Given the description of an element on the screen output the (x, y) to click on. 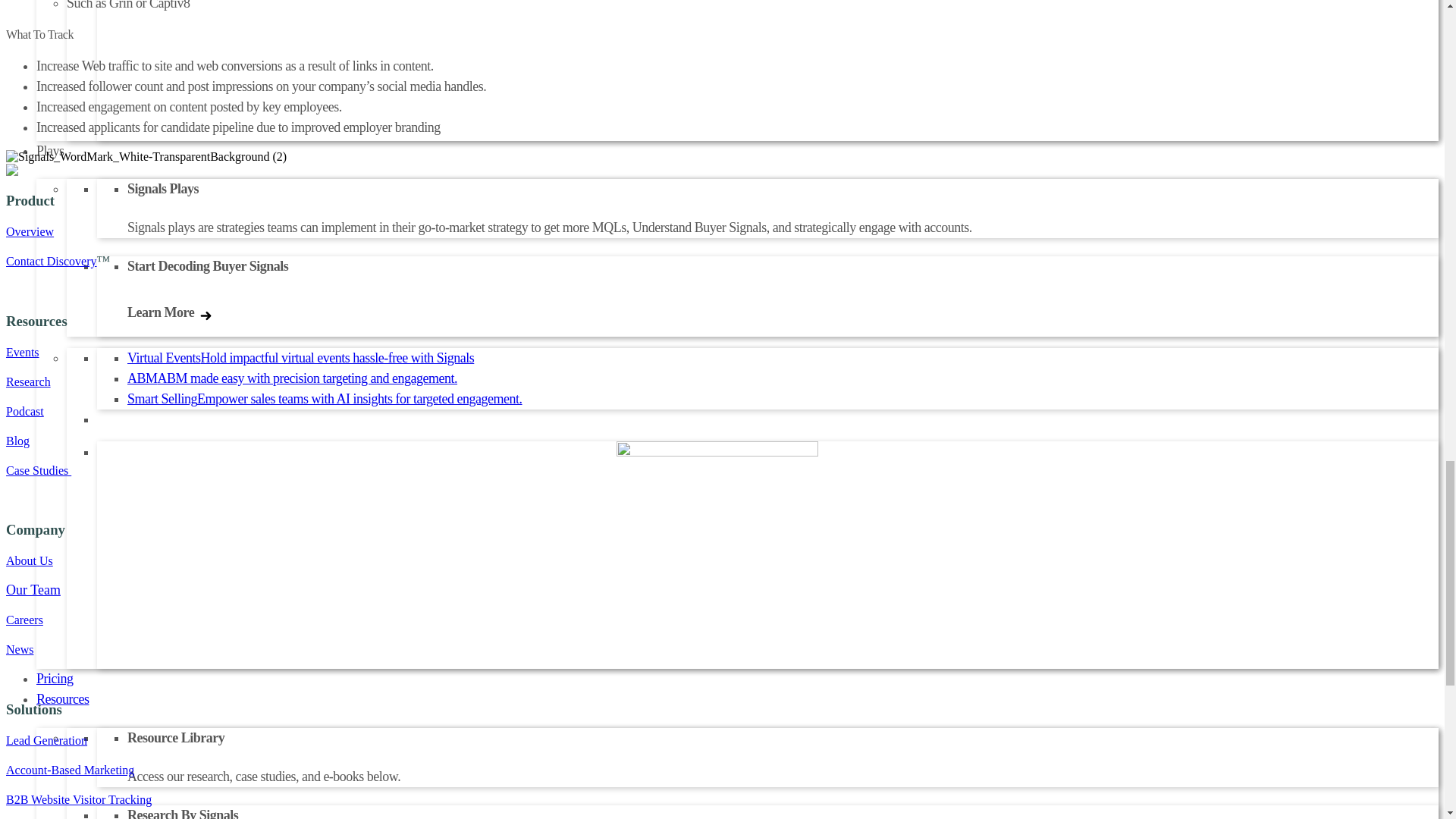
Plays (50, 150)
Resources (62, 698)
Pricing (55, 678)
ABMABM made easy with precision targeting and engagement. (292, 378)
